Given the description of an element on the screen output the (x, y) to click on. 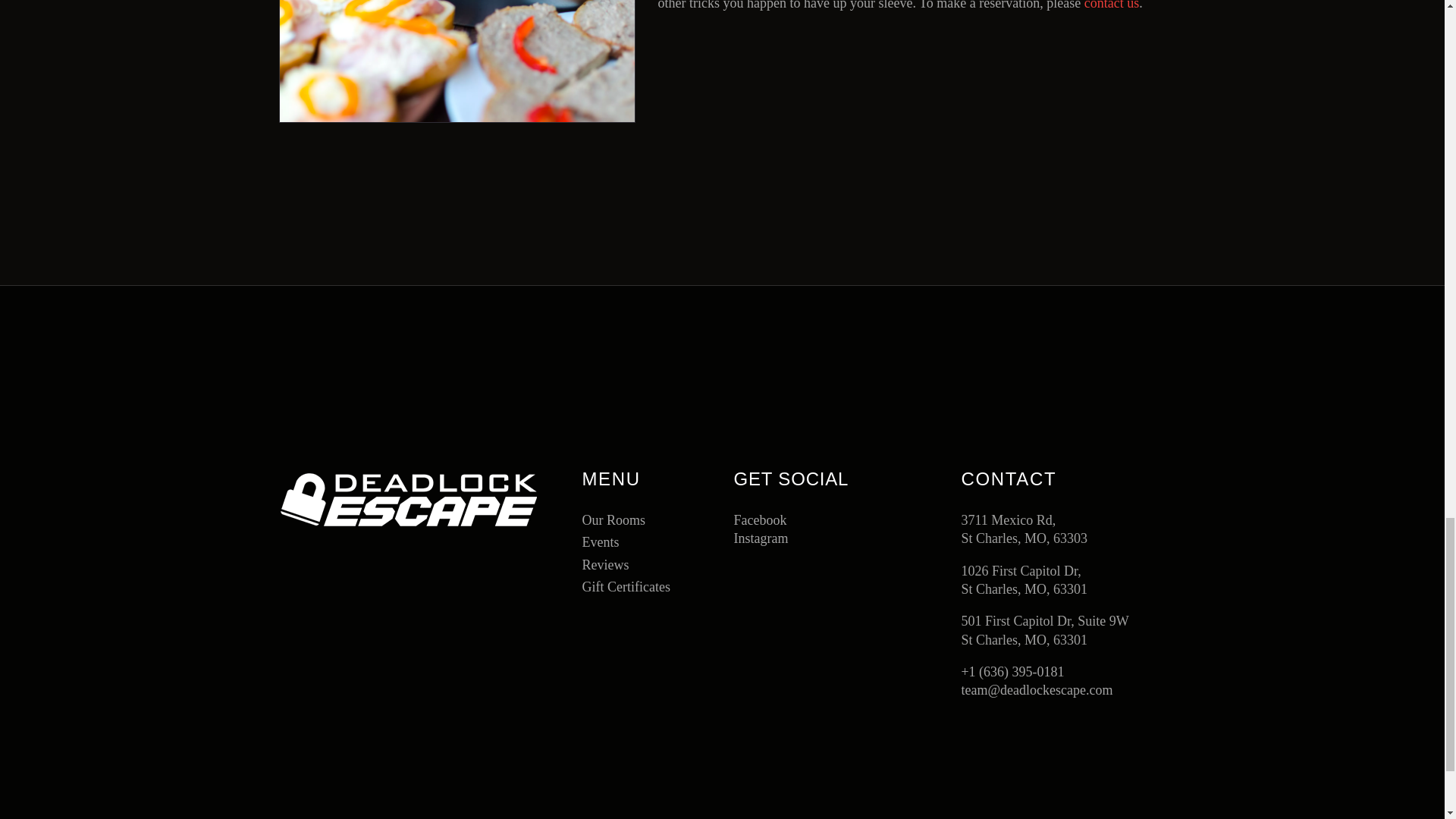
Instagram (797, 538)
Gift Certificates (624, 586)
Events (599, 541)
Facebook (797, 520)
contact us (1111, 5)
Reviews (604, 564)
Our Rooms (612, 519)
